Given the description of an element on the screen output the (x, y) to click on. 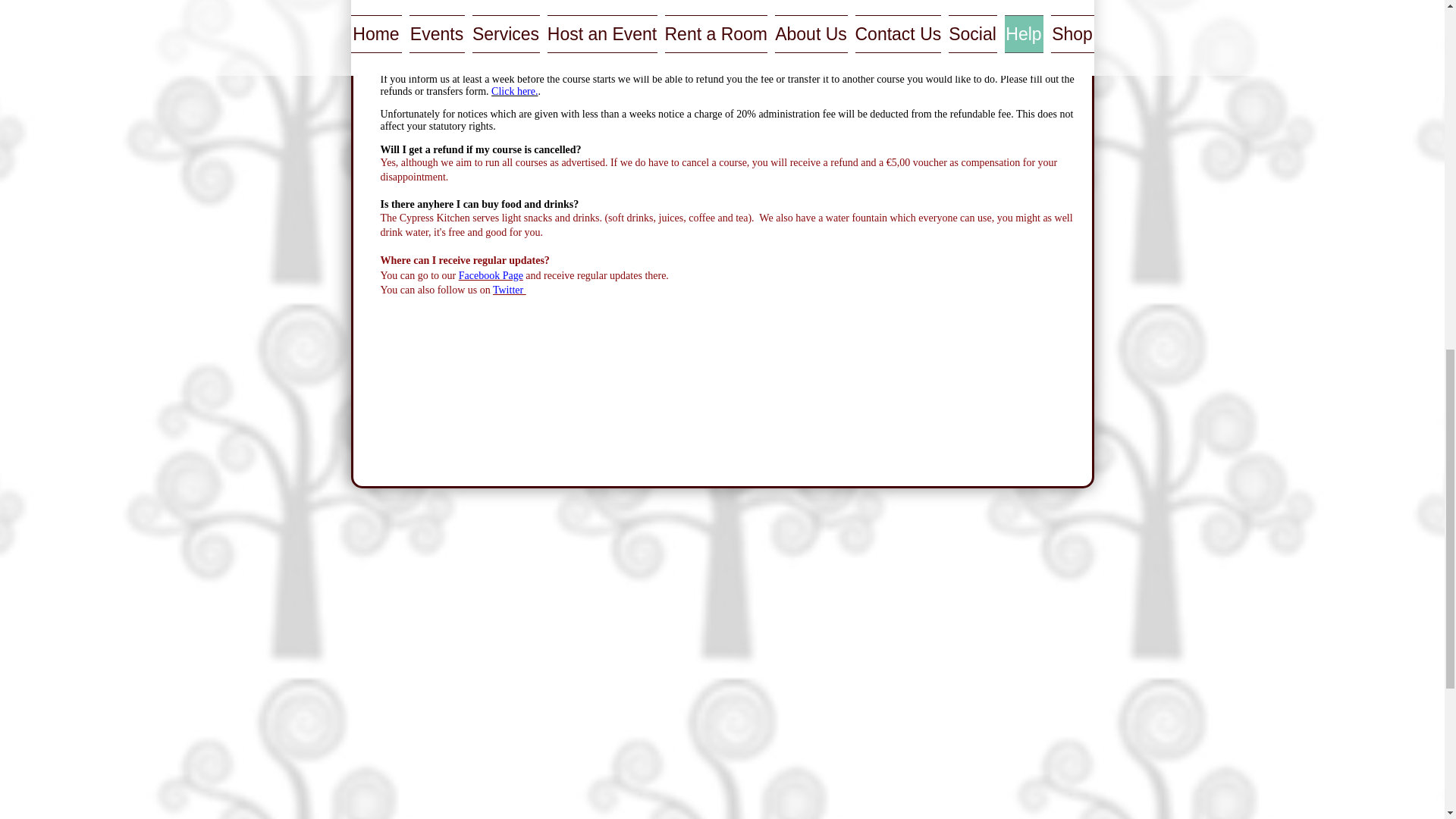
What can we do for you page. (894, 38)
Facebook Page (490, 275)
Click here. (514, 91)
Twitter  (509, 289)
